Given the description of an element on the screen output the (x, y) to click on. 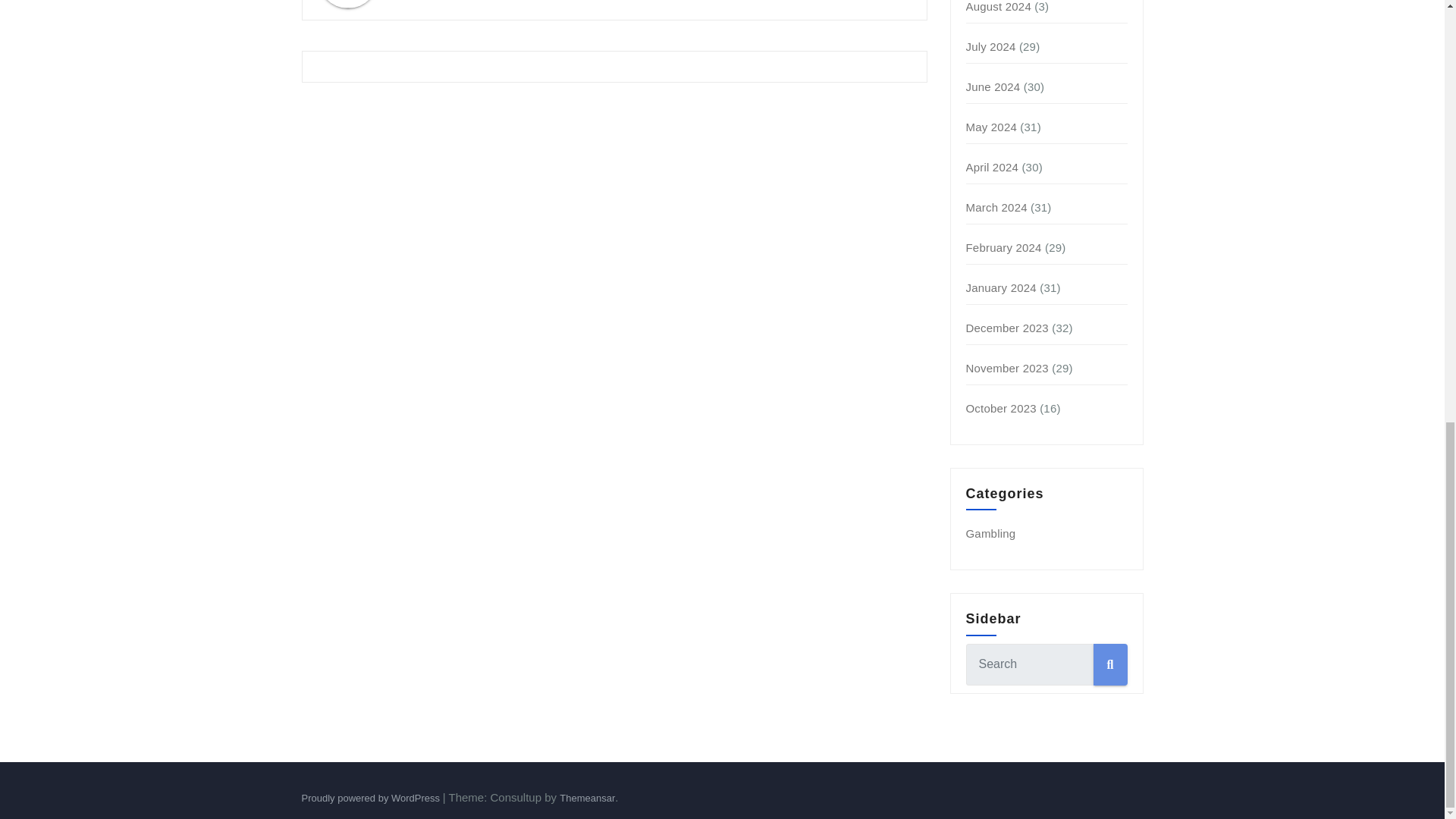
Proudly powered by WordPress (371, 797)
November 2023 (1007, 367)
May 2024 (991, 126)
August 2024 (998, 6)
Themeansar (586, 797)
January 2024 (1001, 287)
February 2024 (1004, 246)
April 2024 (992, 166)
July 2024 (991, 46)
December 2023 (1007, 327)
Gambling (991, 533)
June 2024 (993, 86)
March 2024 (996, 206)
October 2023 (1001, 408)
